Given the description of an element on the screen output the (x, y) to click on. 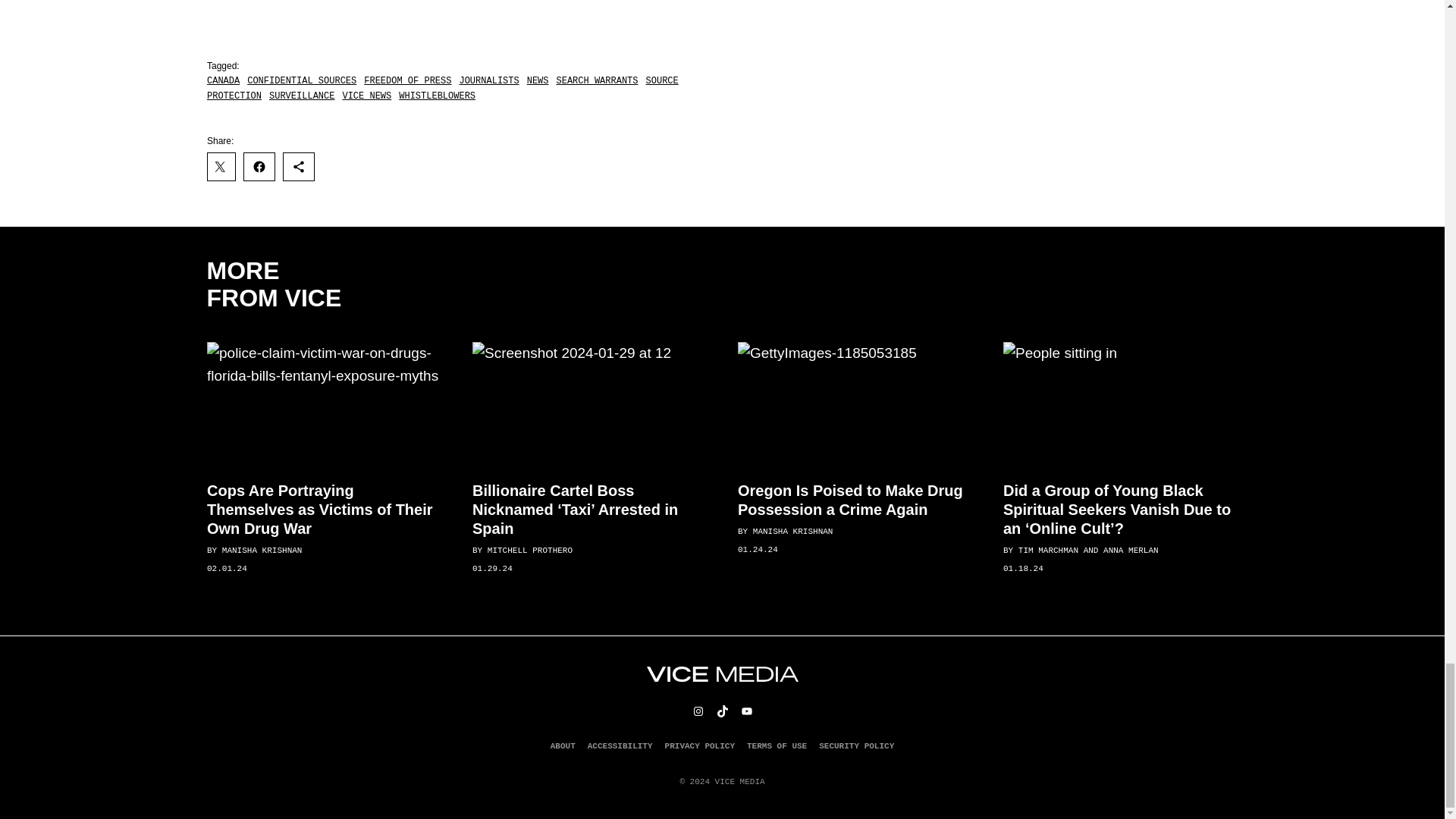
Posts by Mitchell Prothero (529, 550)
Posts by Anna Merlan (1130, 550)
Posts by Manisha Krishnan (261, 550)
Posts by Tim Marchman (1047, 550)
Posts by Manisha Krishnan (792, 531)
